Given the description of an element on the screen output the (x, y) to click on. 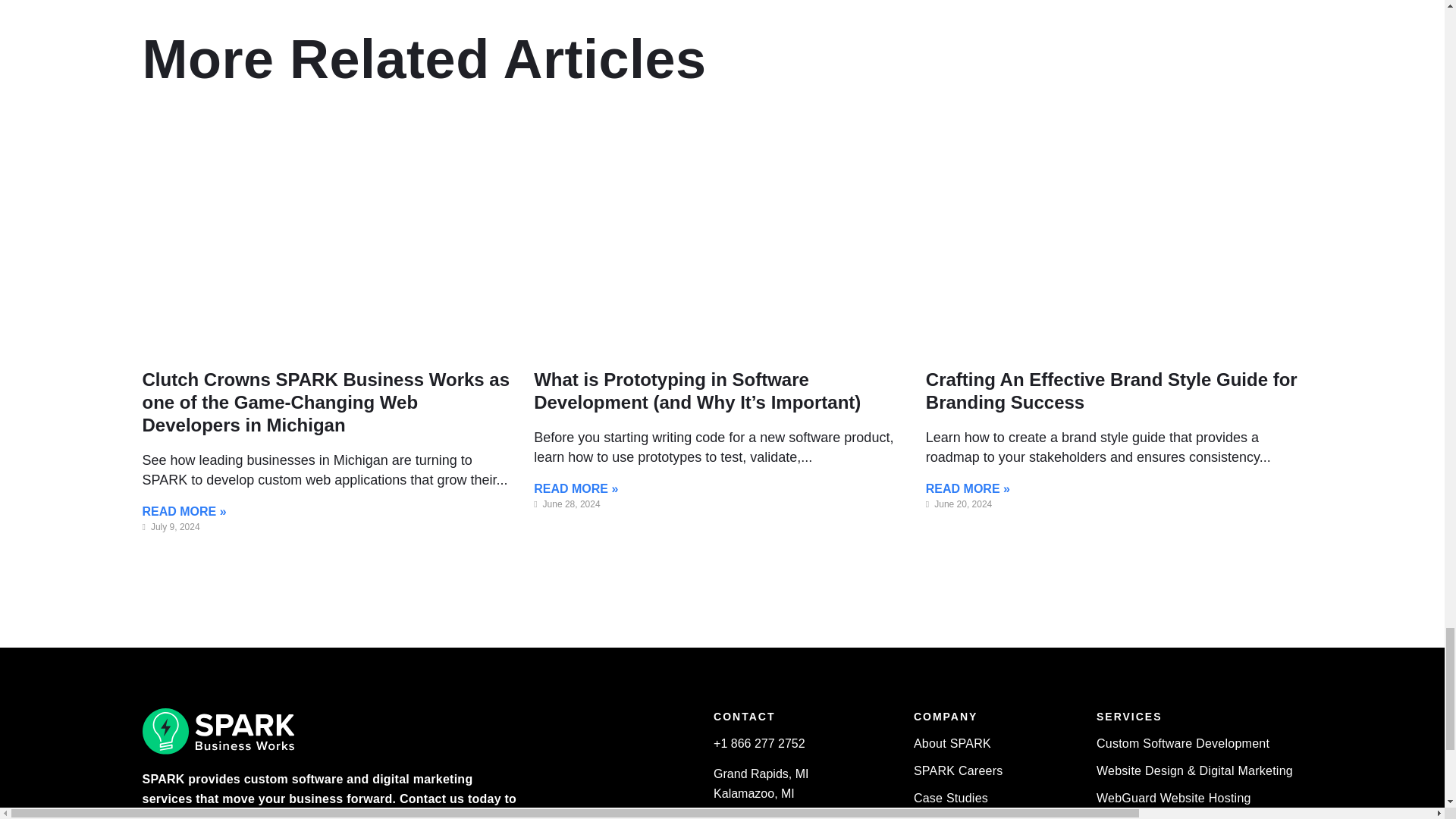
Crafting An Effective Brand Style Guide for Branding Success (1111, 390)
Crafting An Effective Brand Style Guide for Branding Success (1111, 390)
